Given the description of an element on the screen output the (x, y) to click on. 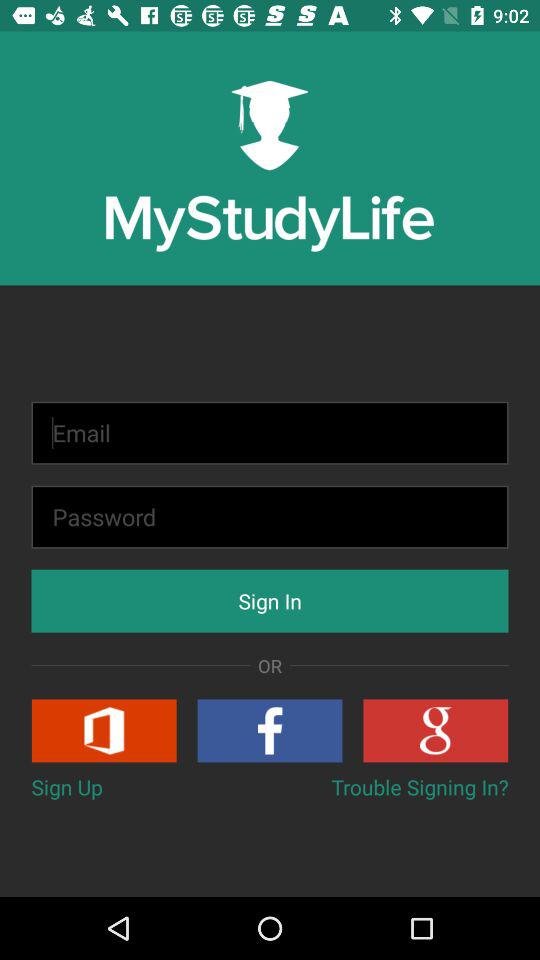
press sign in icon (269, 600)
